Given the description of an element on the screen output the (x, y) to click on. 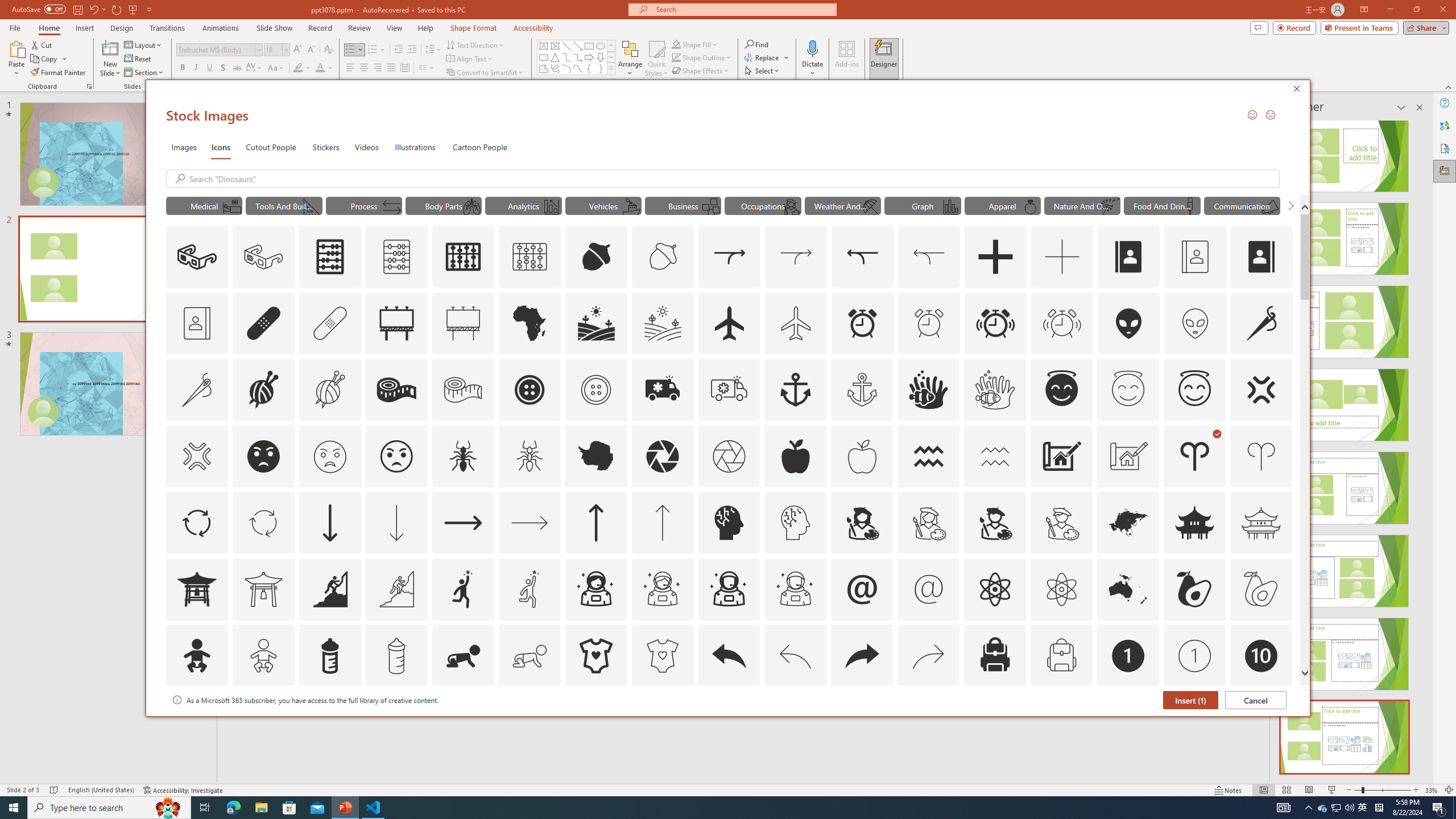
"Weather And Seasons" Icons. (842, 205)
Cartoon People (479, 146)
AutomationID: Icons_Add_M (1062, 256)
AutomationID: Icons_Backpack_M (1061, 655)
AutomationID: Icons_Lungs_M (471, 206)
